Given the description of an element on the screen output the (x, y) to click on. 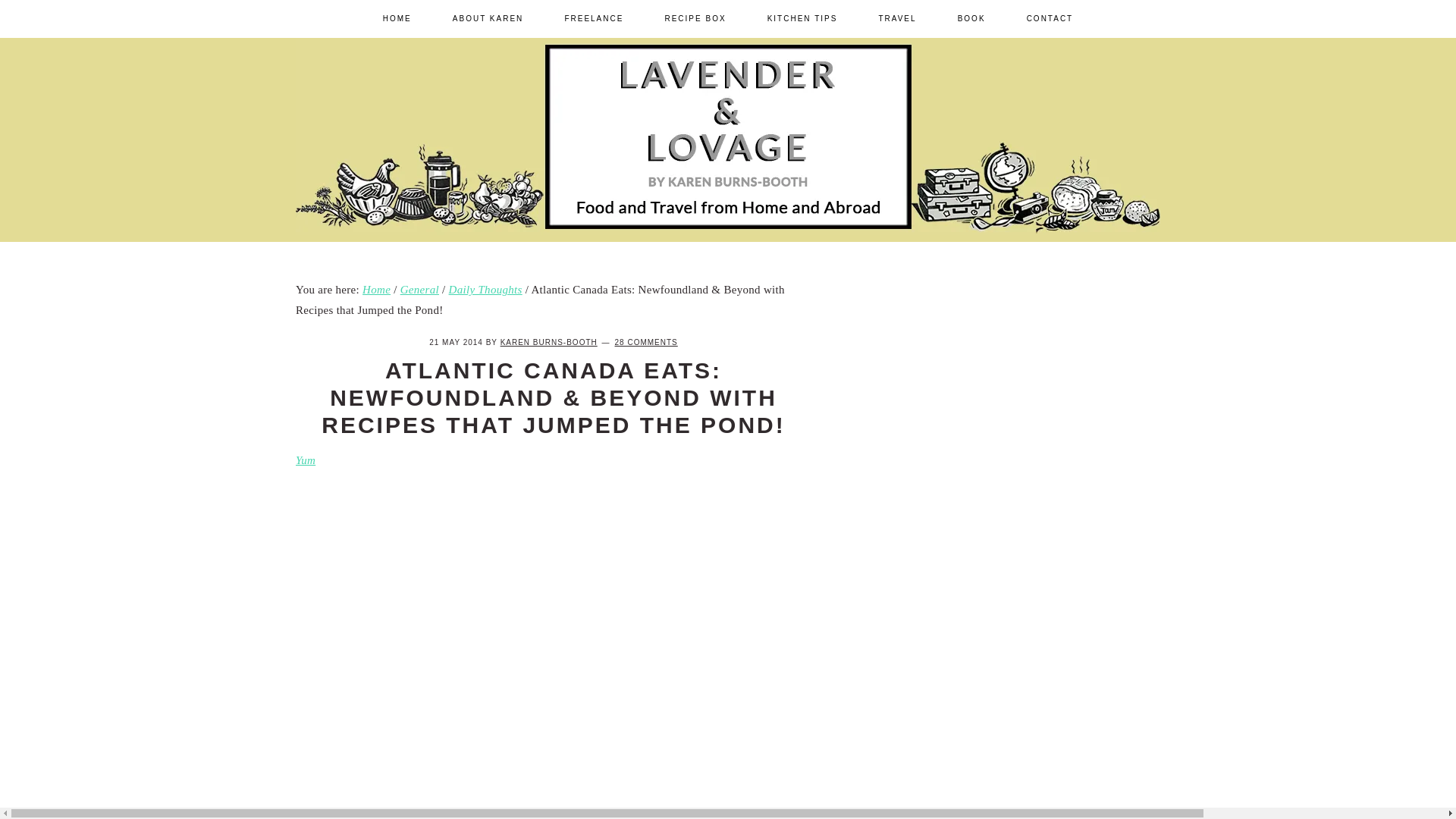
BOOK (971, 18)
CONTACT (1050, 18)
28 COMMENTS (646, 342)
ABOUT KAREN (488, 18)
TRAVEL (896, 18)
Home (376, 289)
Daily Thoughts (485, 289)
HOME (397, 18)
LAVENDER AND LOVAGE (1022, 254)
KITCHEN TIPS (802, 18)
RECIPE BOX (694, 18)
General (419, 289)
FREELANCE (593, 18)
KAREN BURNS-BOOTH (548, 342)
